Given the description of an element on the screen output the (x, y) to click on. 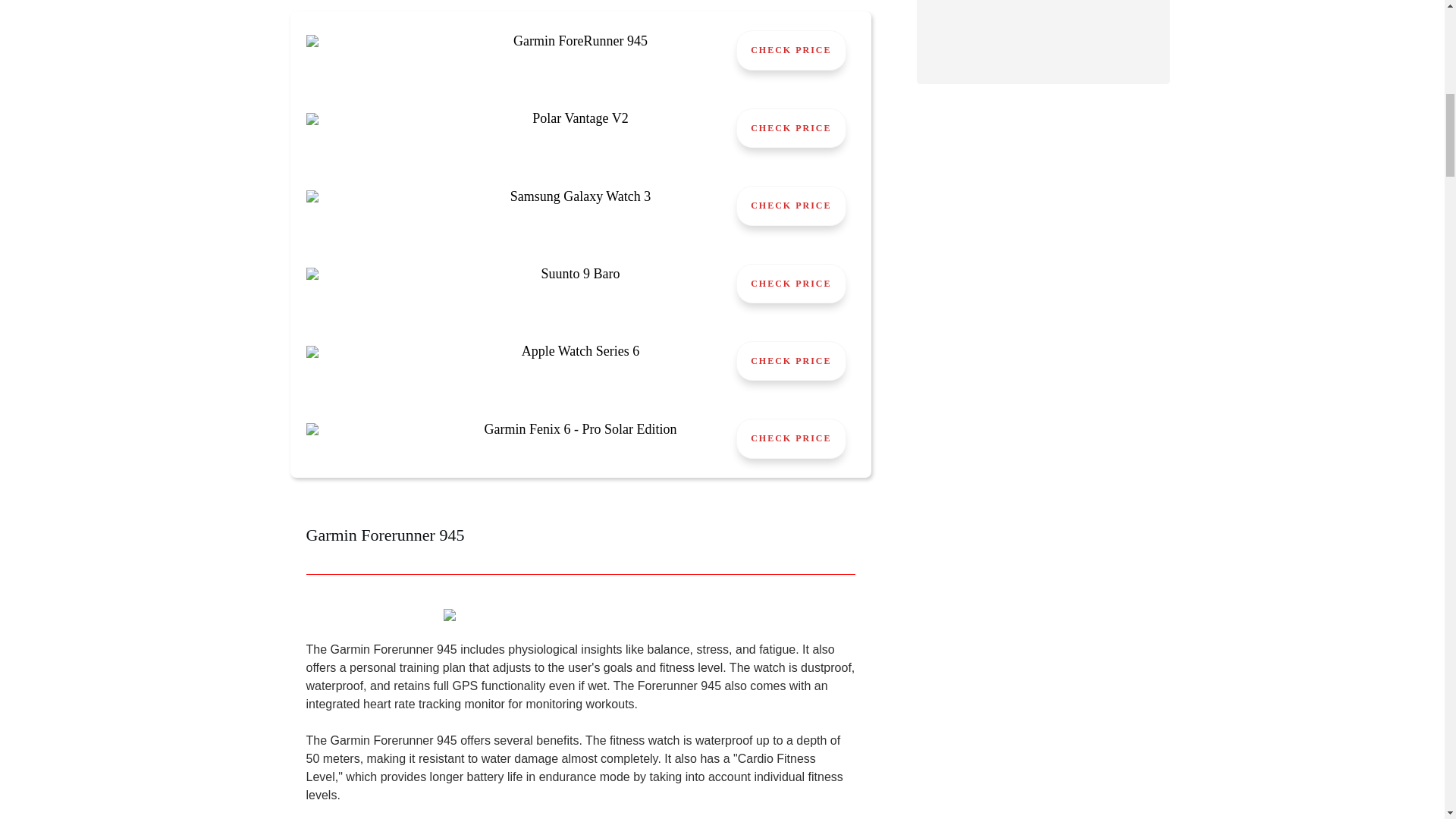
CHECK PRICE (790, 437)
CHECK PRICE (790, 283)
CHECK PRICE (790, 205)
CHECK PRICE (790, 360)
CHECK PRICE (790, 128)
CHECK PRICE (790, 49)
